Given the description of an element on the screen output the (x, y) to click on. 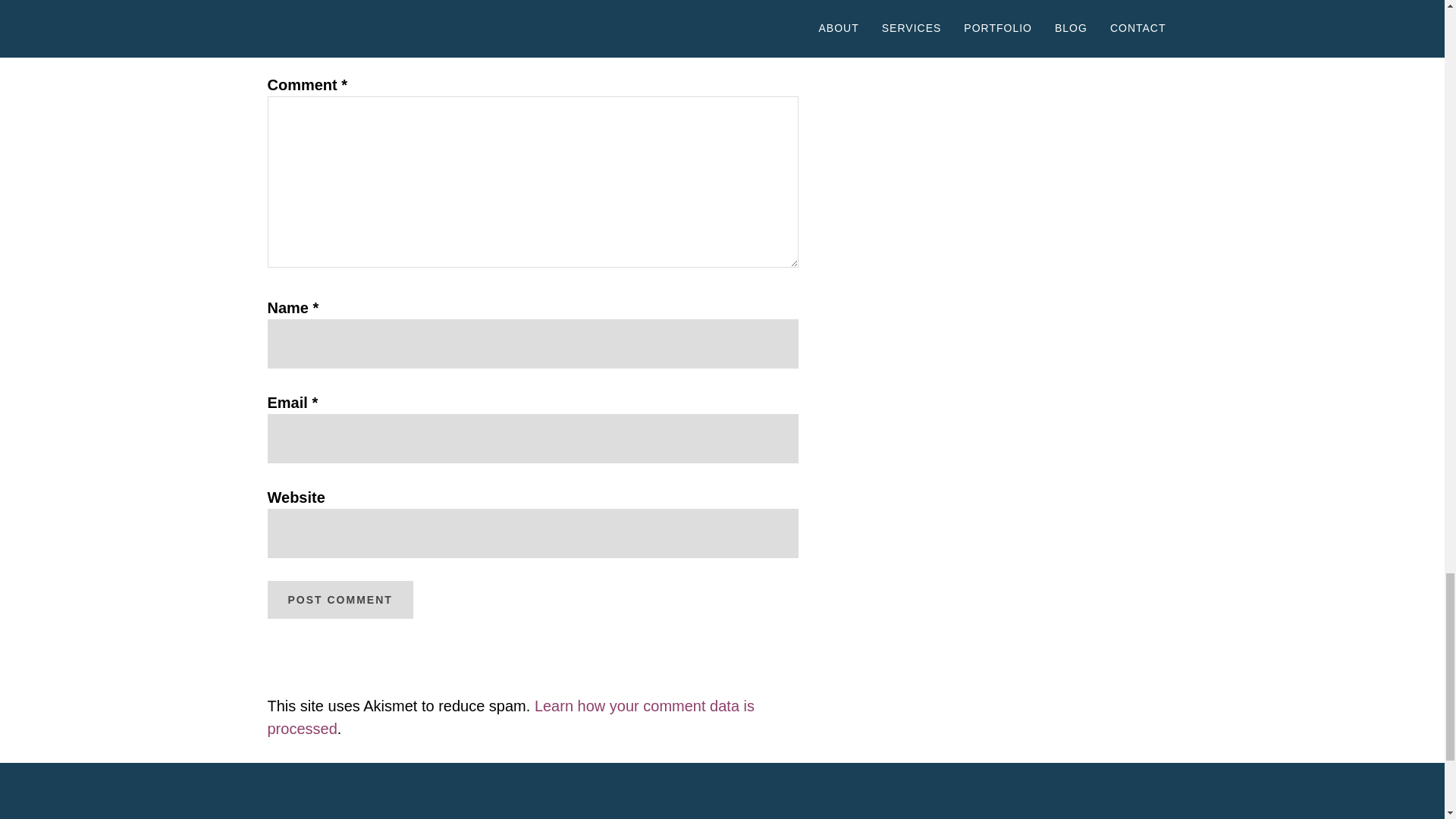
Learn how your comment data is processed (510, 717)
Post Comment (339, 599)
Post Comment (339, 599)
